Given the description of an element on the screen output the (x, y) to click on. 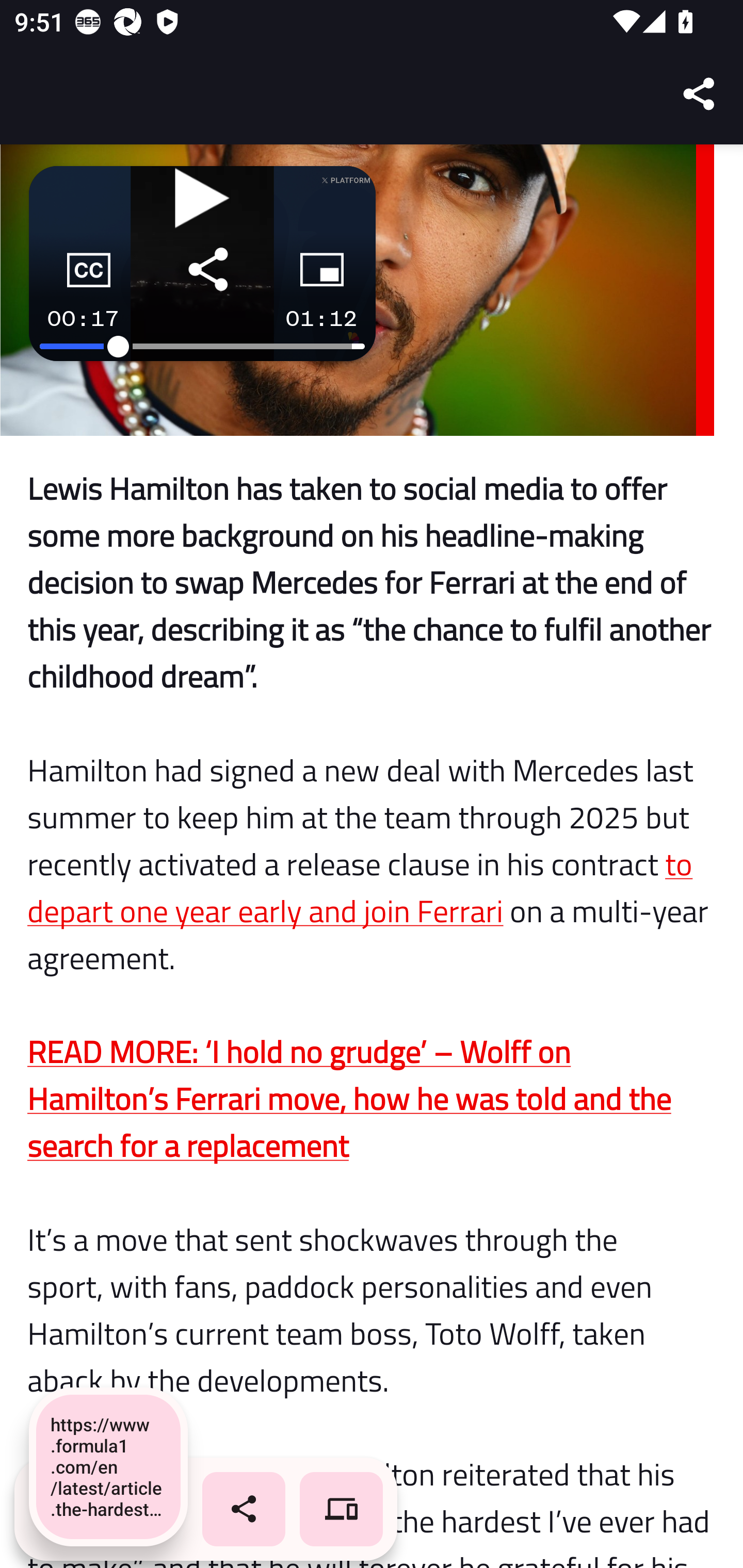
Share (699, 93)
